Given the description of an element on the screen output the (x, y) to click on. 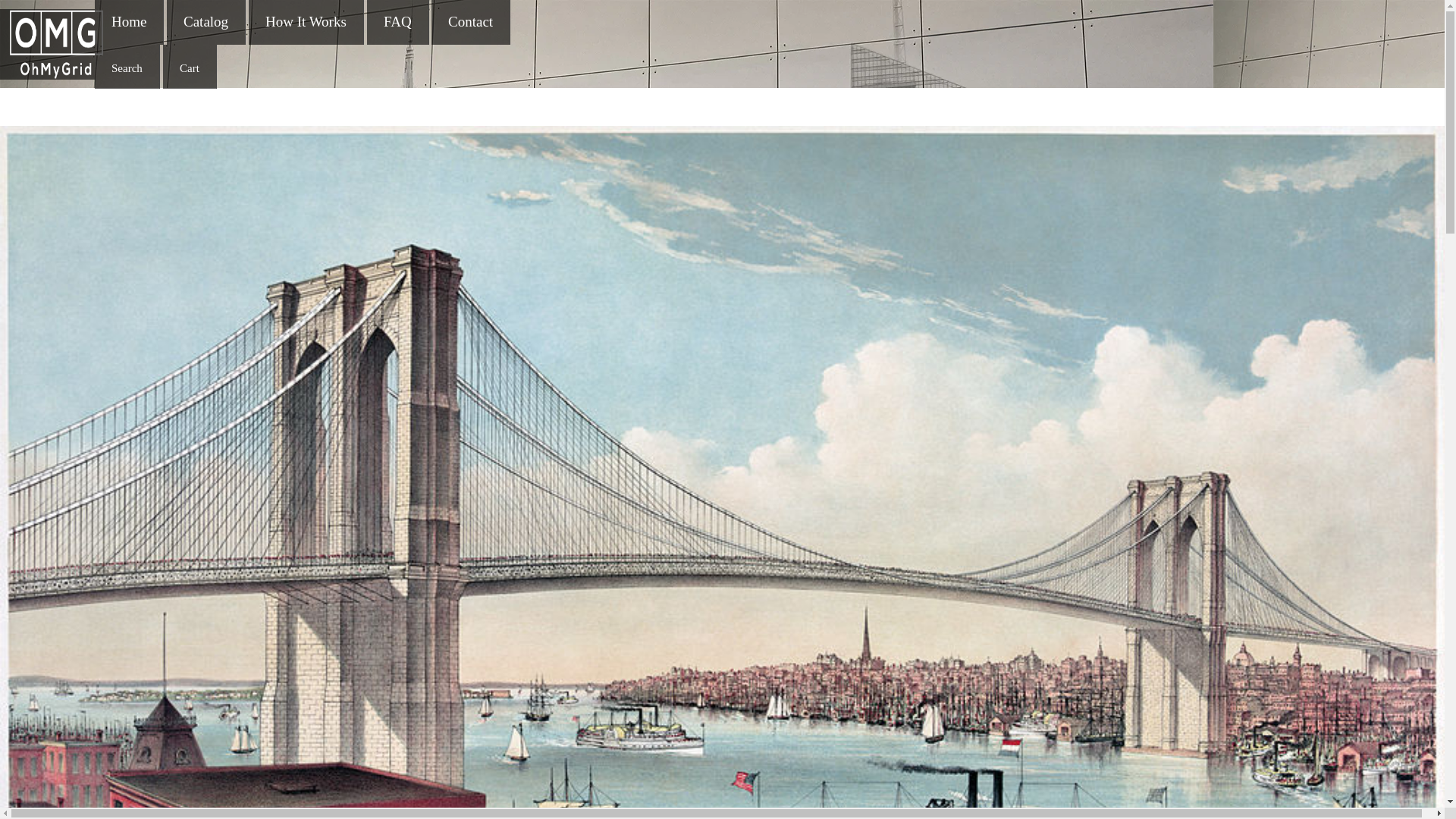
Catalog (205, 21)
Contact (470, 21)
Cart (189, 69)
Search (127, 69)
Home (129, 21)
FAQ (398, 21)
How It Works (305, 21)
